Given the description of an element on the screen output the (x, y) to click on. 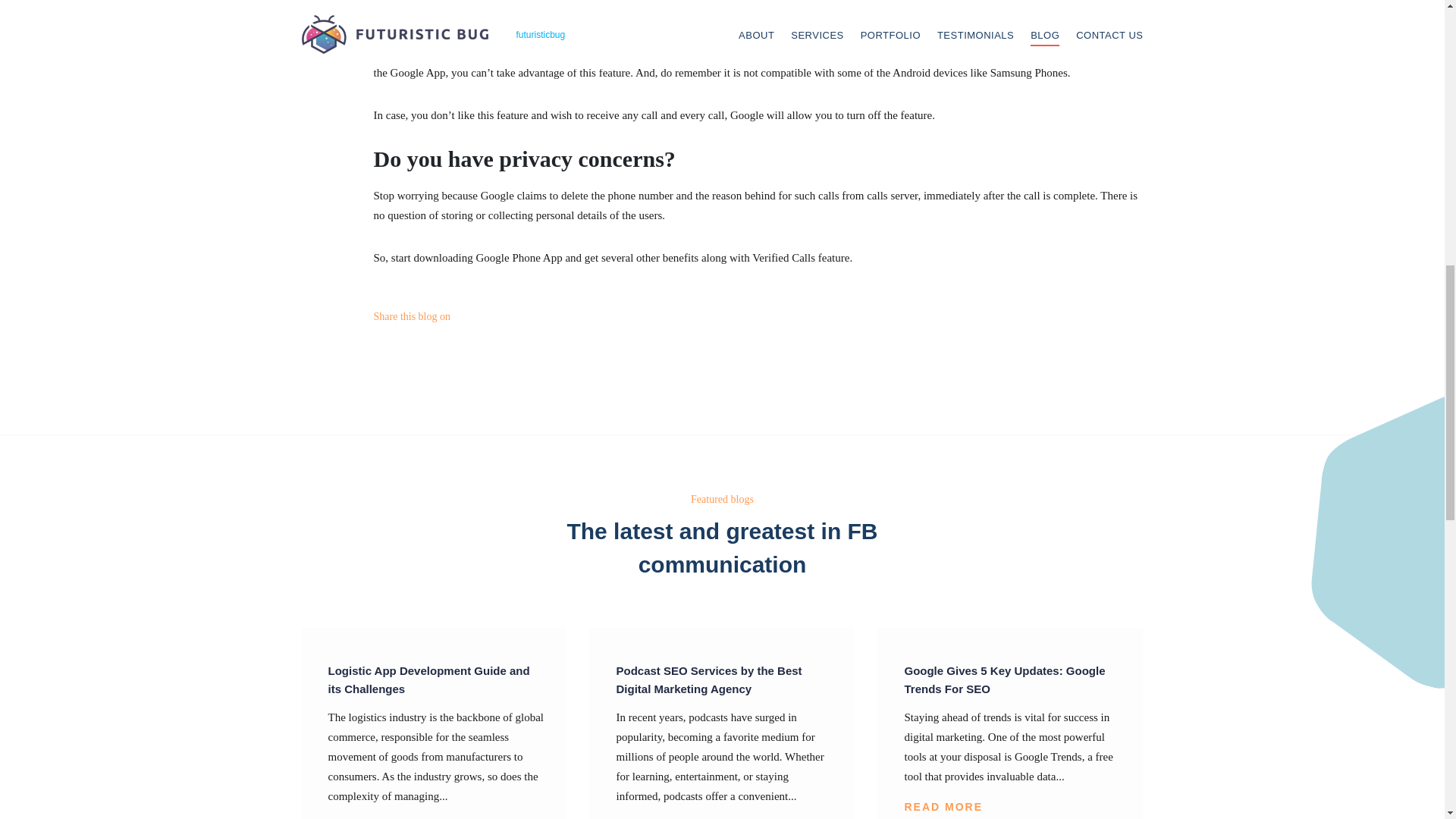
READ MORE (943, 806)
Podcast SEO Services by the Best Digital Marketing Agency (723, 679)
READ MORE (366, 818)
READ MORE (654, 818)
Logistic App Development Guide and its Challenges (435, 679)
Google Gives 5 Key Updates: Google Trends For SEO (1011, 679)
